Given the description of an element on the screen output the (x, y) to click on. 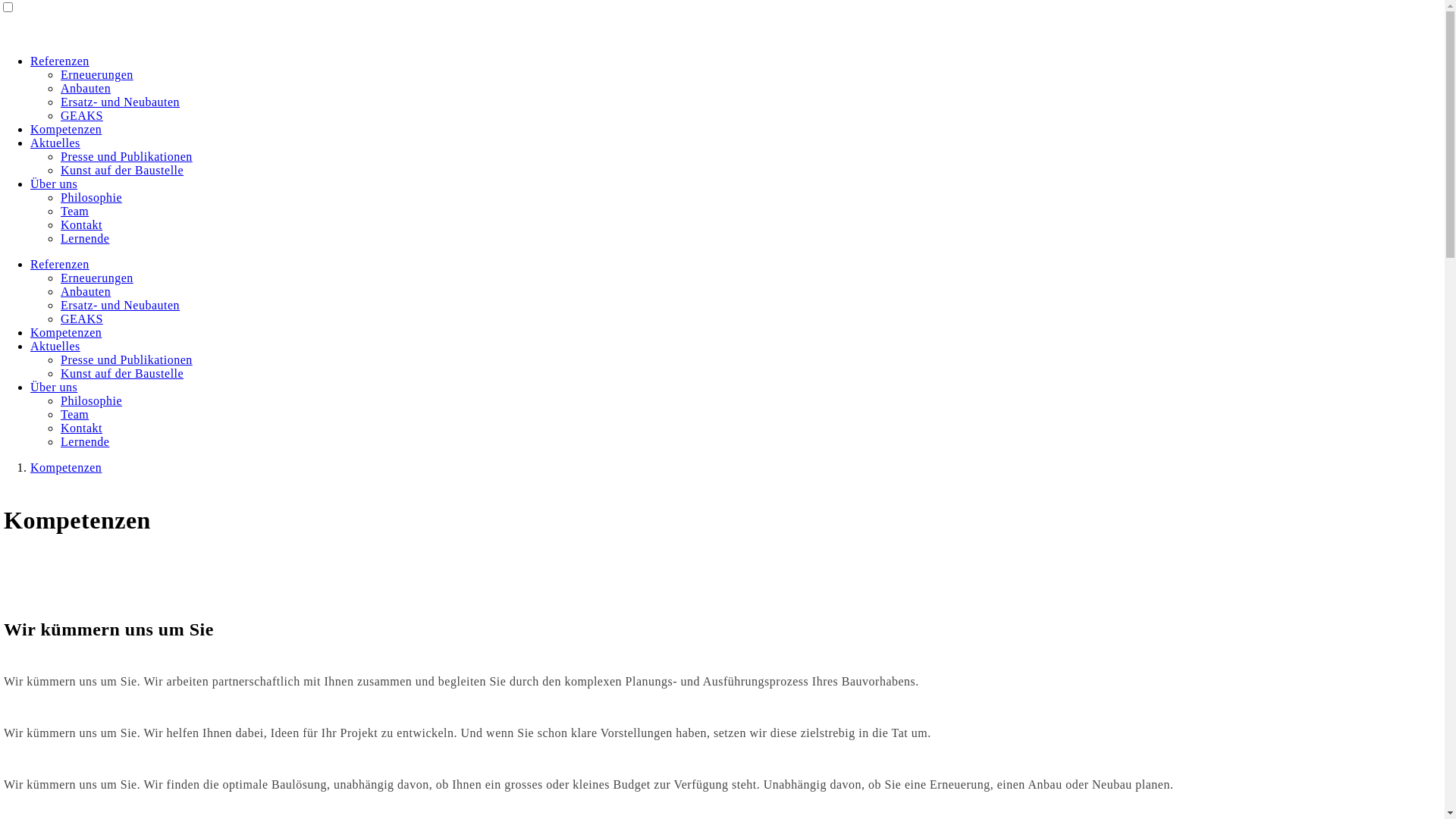
Ersatz- und Neubauten Element type: text (119, 101)
Referenzen Element type: text (59, 60)
Kompetenzen Element type: text (65, 467)
Anbauten Element type: text (85, 291)
Team Element type: text (74, 413)
Presse und Publikationen Element type: text (126, 156)
Kontakt Element type: text (81, 427)
Anbauten Element type: text (85, 87)
Team Element type: text (74, 210)
Kontakt Element type: text (81, 224)
Erneuerungen Element type: text (96, 277)
Philosophie Element type: text (91, 197)
GEAKS Element type: text (81, 115)
Erneuerungen Element type: text (96, 74)
Kompetenzen Element type: text (65, 128)
Kunst auf der Baustelle Element type: text (121, 169)
Presse und Publikationen Element type: text (126, 359)
Referenzen Element type: text (59, 263)
Kompetenzen Element type: text (65, 332)
Ersatz- und Neubauten Element type: text (119, 304)
Aktuelles Element type: text (55, 345)
GEAKS Element type: text (81, 318)
Lernende Element type: text (84, 238)
Lernende Element type: text (84, 441)
Philosophie Element type: text (91, 400)
Aktuelles Element type: text (55, 142)
Kunst auf der Baustelle Element type: text (121, 373)
